Given the description of an element on the screen output the (x, y) to click on. 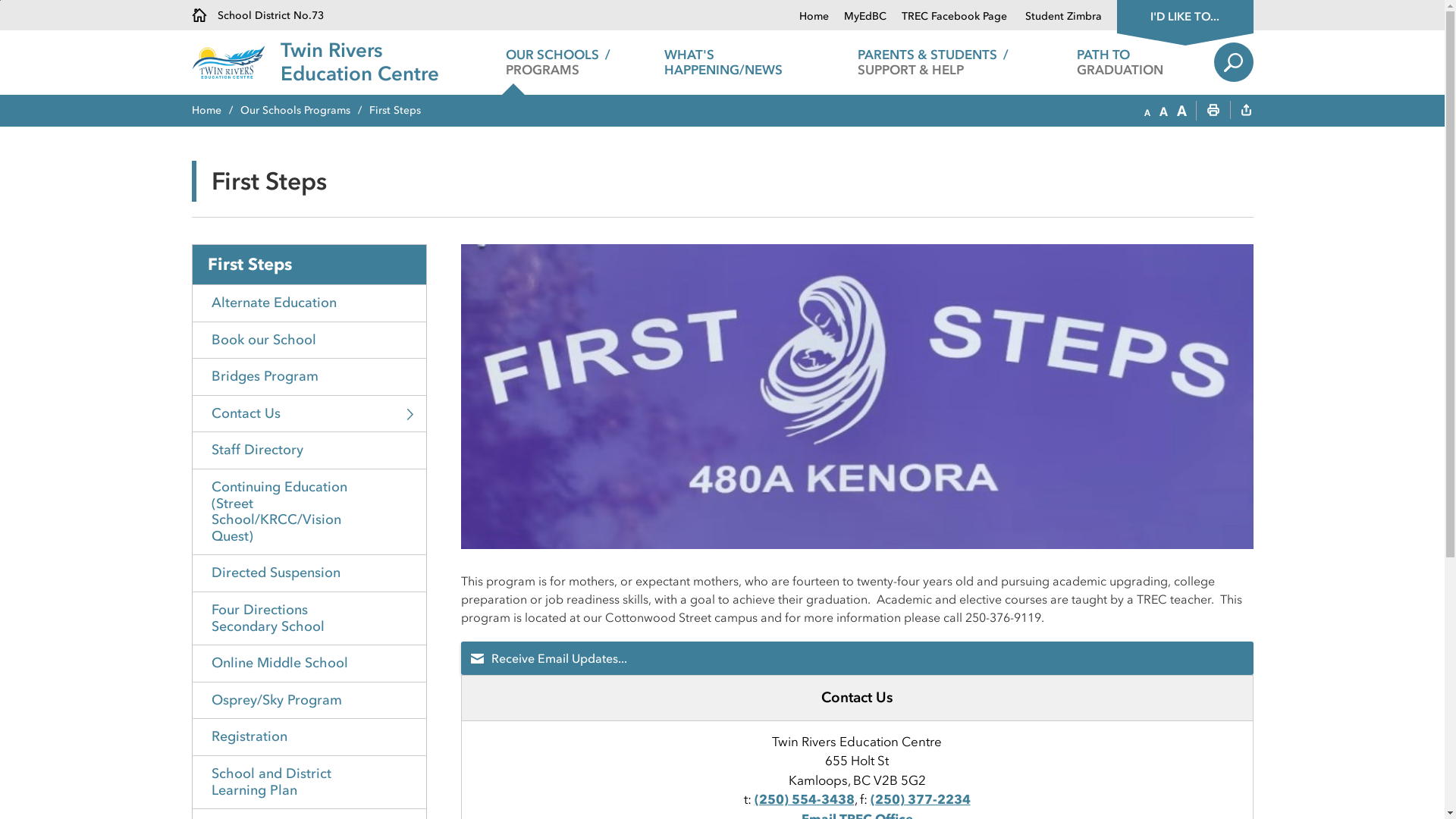
PATH TO
GRADUATION Element type: text (1120, 62)
Receive Email Updates... Element type: text (857, 657)
School and District Learning Plan Element type: text (309, 781)
  Element type: text (1245, 111)
Four Directions Secondary School Element type: text (309, 617)
Home Element type: text (215, 109)
Online Middle School Element type: text (309, 662)
Twin Rivers
Education Centre Element type: text (359, 62)
PARENTS & STUDENTS
SUPPORT & HELP Element type: text (932, 62)
Our Schools Programs Element type: text (303, 109)
Osprey/Sky Program Element type: text (309, 699)
Home Element type: text (813, 15)
I'D LIKE TO... Element type: text (1184, 15)
Continuing Education (Street School/KRCC/Vision Quest) Element type: text (309, 511)
(250) 377-2234 Element type: text (920, 798)
TREC Facebook Page Element type: text (947, 15)
Registration Element type: text (309, 736)
Directed Suspension Element type: text (309, 572)
(250) 554-3438 Element type: text (803, 798)
Staff Directory Element type: text (309, 449)
Skip to Content Element type: text (0, 0)
Print This Page Element type: hover (1212, 111)
Student Zimbra Element type: text (1055, 15)
Bridges Program Element type: text (309, 376)
MyEdBC Element type: text (856, 15)
Contact Us Element type: text (309, 413)
Book our School Element type: text (309, 339)
OUR SCHOOLS
PROGRAMS Element type: text (557, 62)
Click to return to the homepage Element type: hover (235, 62)
School District No.73 Element type: text (257, 15)
First Steps Element type: text (309, 264)
Alternate Education Element type: text (309, 302)
Decrease text size Element type: hover (1146, 111)
WHAT'S HAPPENING/NEWS Element type: text (745, 62)
Twin Rivers Education Centre Element type: hover (857, 396)
Default text size Element type: hover (1162, 111)
Search Element type: text (1232, 61)
Increase text size Element type: hover (1181, 111)
